Given the description of an element on the screen output the (x, y) to click on. 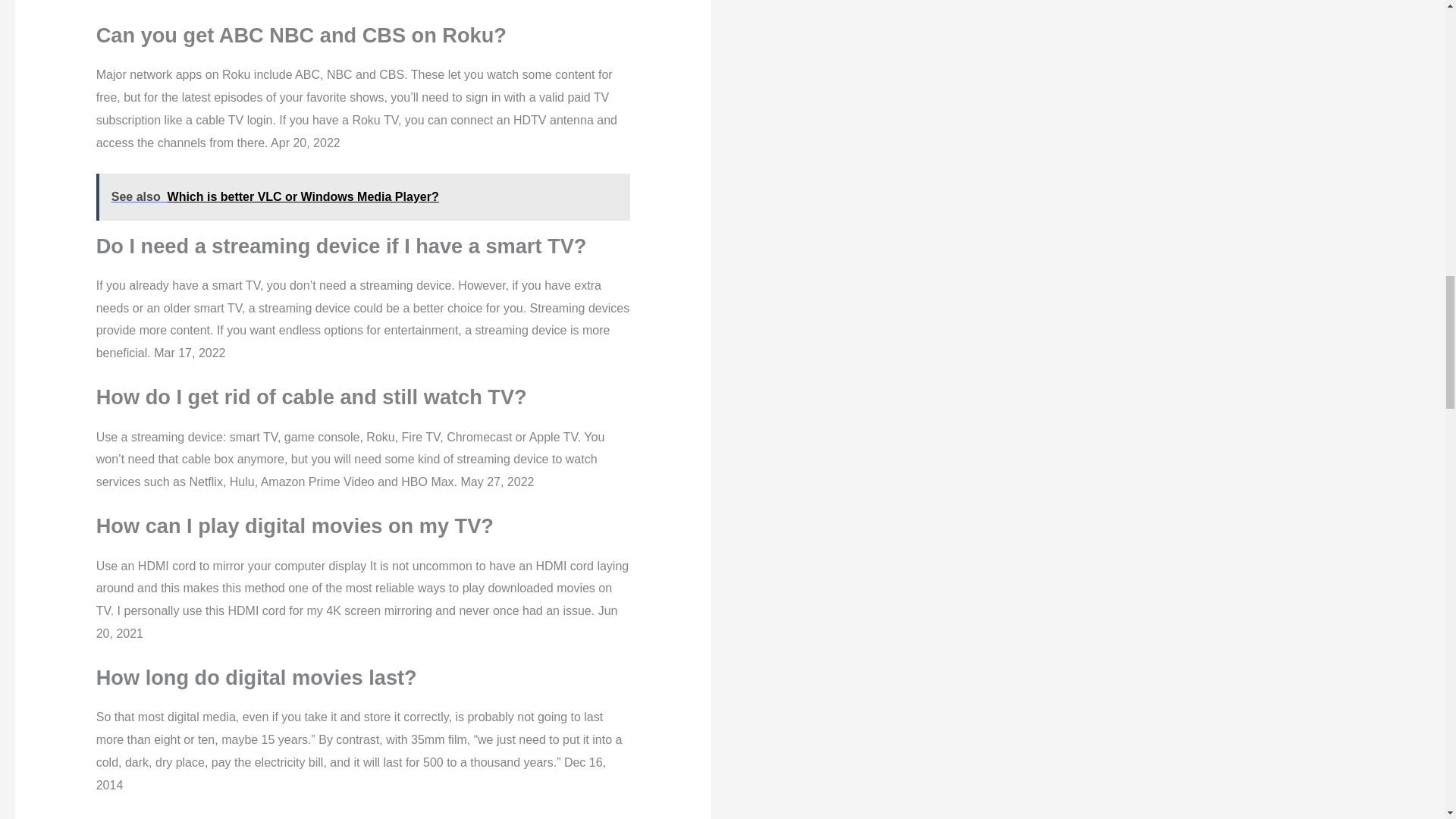
See also  Which is better VLC or Windows Media Player? (363, 196)
